Given the description of an element on the screen output the (x, y) to click on. 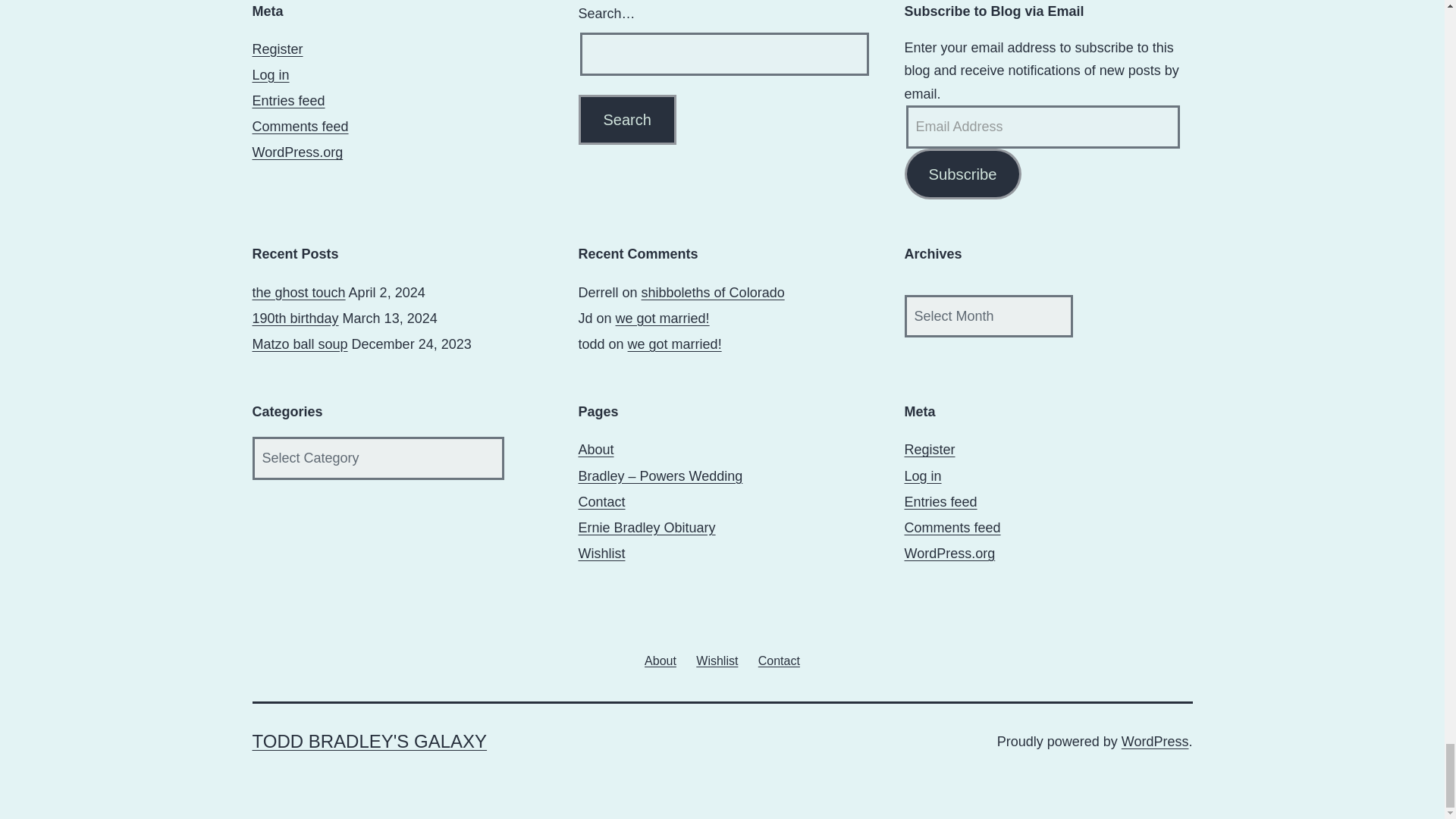
190th birthday (294, 318)
Comments feed (299, 126)
Search (626, 119)
the ghost touch (298, 292)
Search (626, 119)
Entries feed (287, 100)
Search (626, 119)
WordPress.org (296, 151)
Register (276, 48)
Subscribe (962, 173)
